Given the description of an element on the screen output the (x, y) to click on. 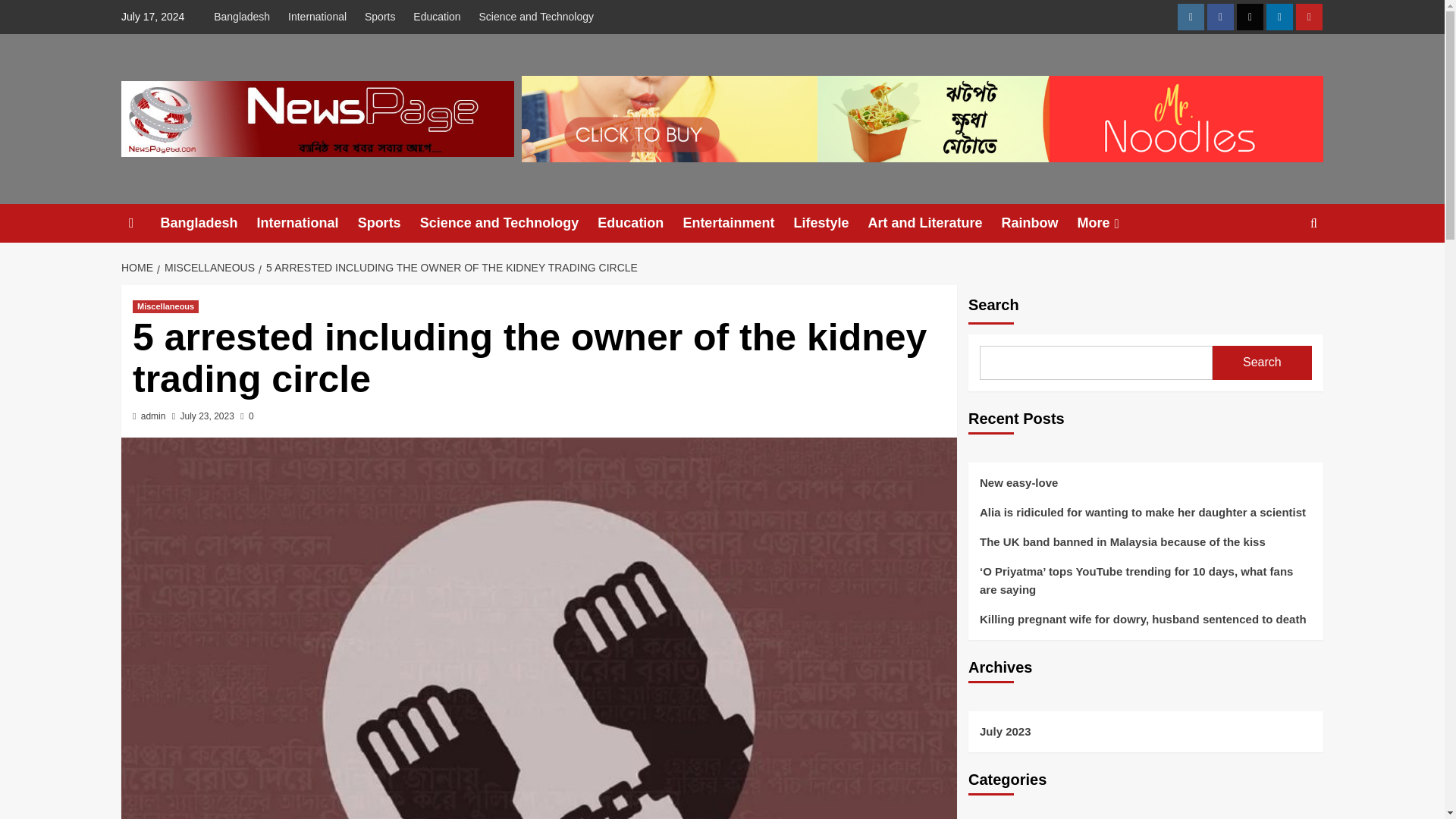
Sports (389, 222)
MISCELLANEOUS (208, 267)
Sports (379, 17)
admin (153, 416)
Miscellaneous (165, 306)
Education (436, 17)
Art and Literature (934, 222)
Science and Technology (536, 17)
International (317, 17)
Lifestyle (830, 222)
Bangladesh (246, 17)
Twitter (1249, 17)
Facebook (1220, 17)
Youtube (1308, 17)
Science and Technology (509, 222)
